Given the description of an element on the screen output the (x, y) to click on. 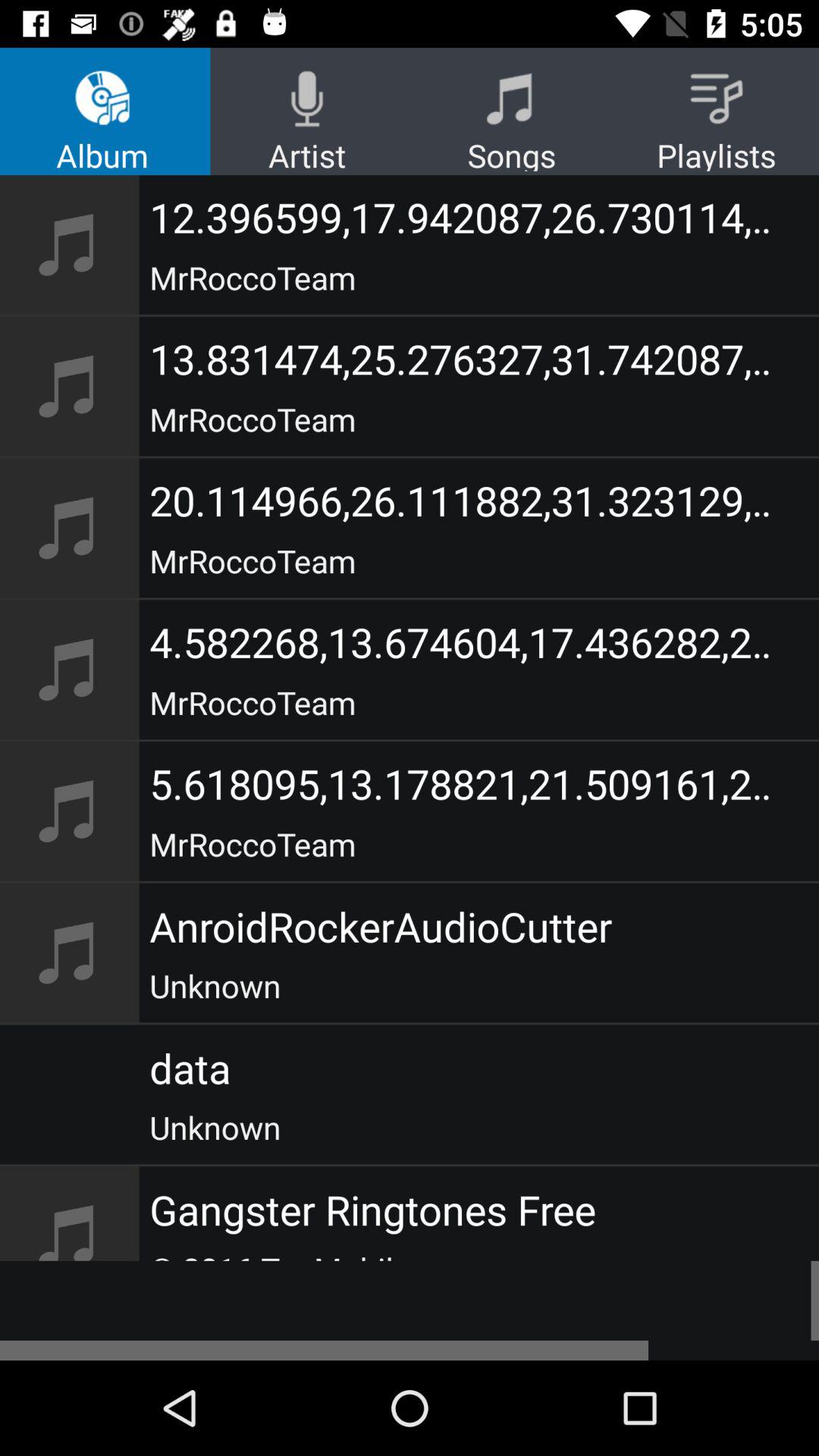
select the songs (511, 111)
